Given the description of an element on the screen output the (x, y) to click on. 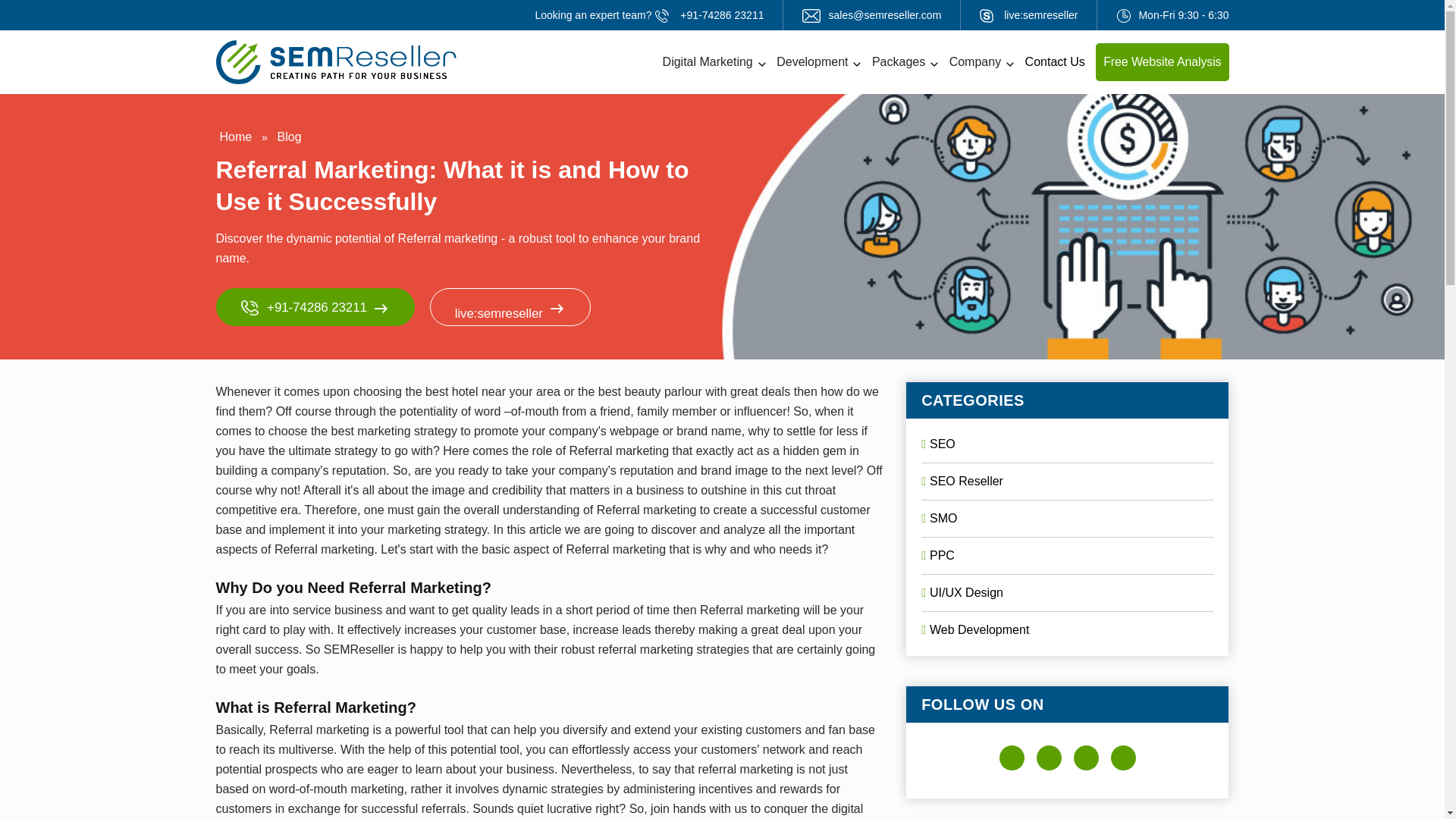
Digital Marketing (707, 61)
Packages (898, 61)
Development (812, 61)
